Given the description of an element on the screen output the (x, y) to click on. 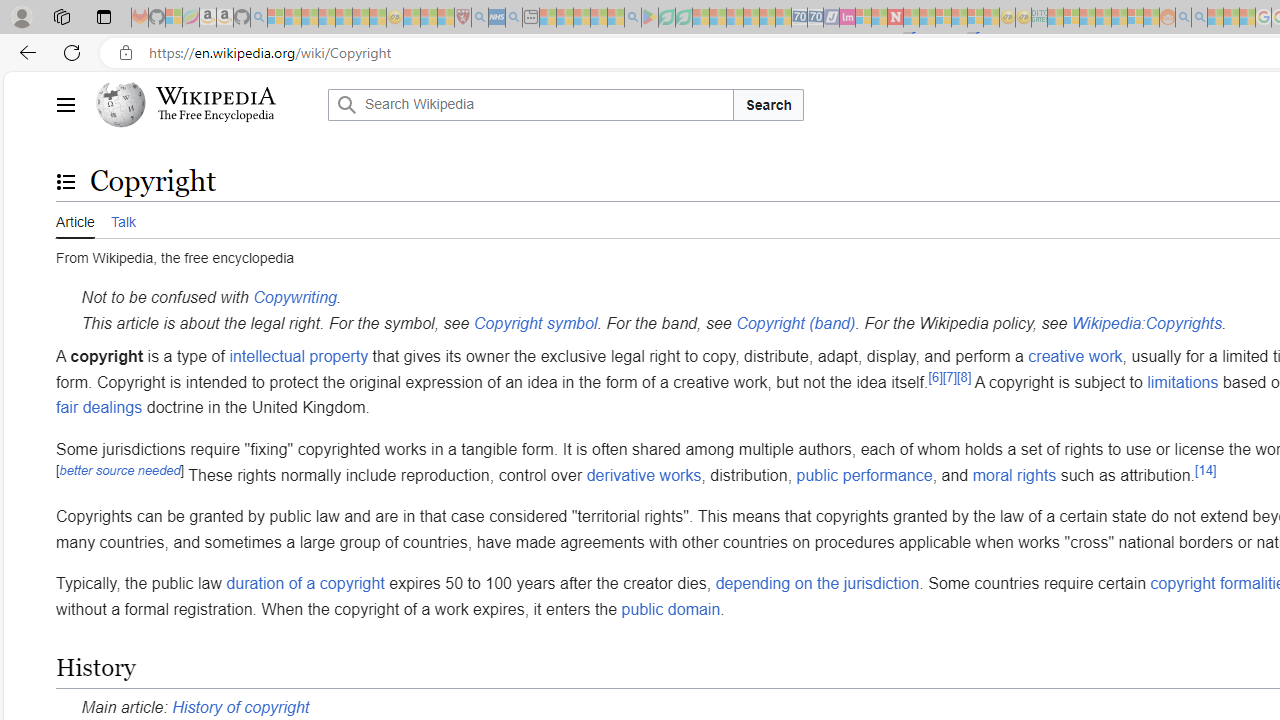
Jobs - lastminute.com Investor Portal - Sleeping (847, 17)
DITOGAMES AG Imprint - Sleeping (1039, 17)
Terms of Use Agreement - Sleeping (666, 17)
Local - MSN - Sleeping (445, 17)
Expert Portfolios - Sleeping (1103, 17)
Talk (122, 219)
Pets - MSN - Sleeping (598, 17)
Bluey: Let's Play! - Apps on Google Play - Sleeping (649, 17)
